Given the description of an element on the screen output the (x, y) to click on. 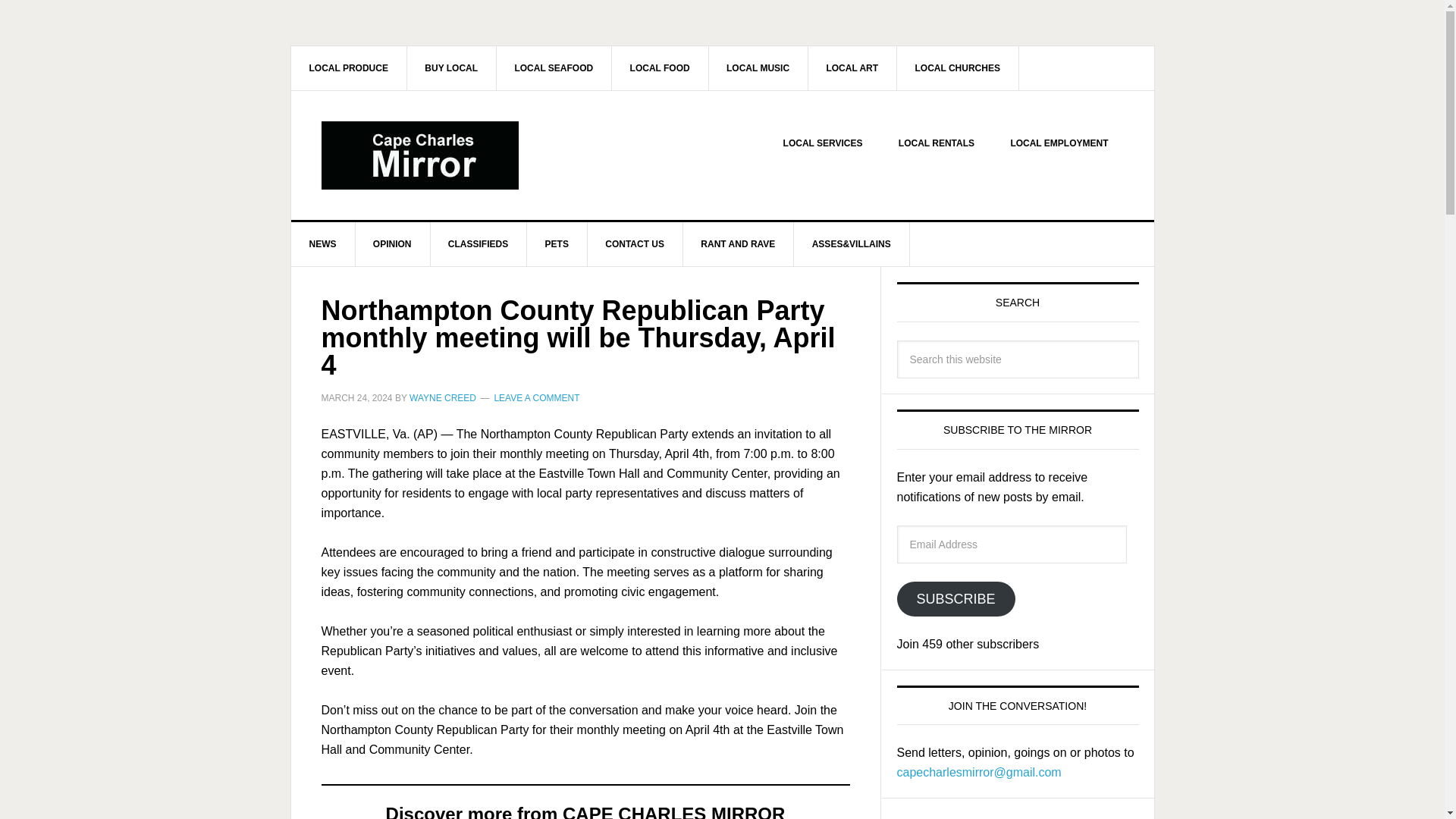
PETS (557, 243)
LOCAL ART (852, 67)
LEAVE A COMMENT (536, 398)
NEWS (323, 243)
WAYNE CREED (442, 398)
MIRRORS (1016, 808)
CLASSIFIEDS (478, 243)
RANT AND RAVE (737, 243)
LOCAL PRODUCE (349, 67)
